Given the description of an element on the screen output the (x, y) to click on. 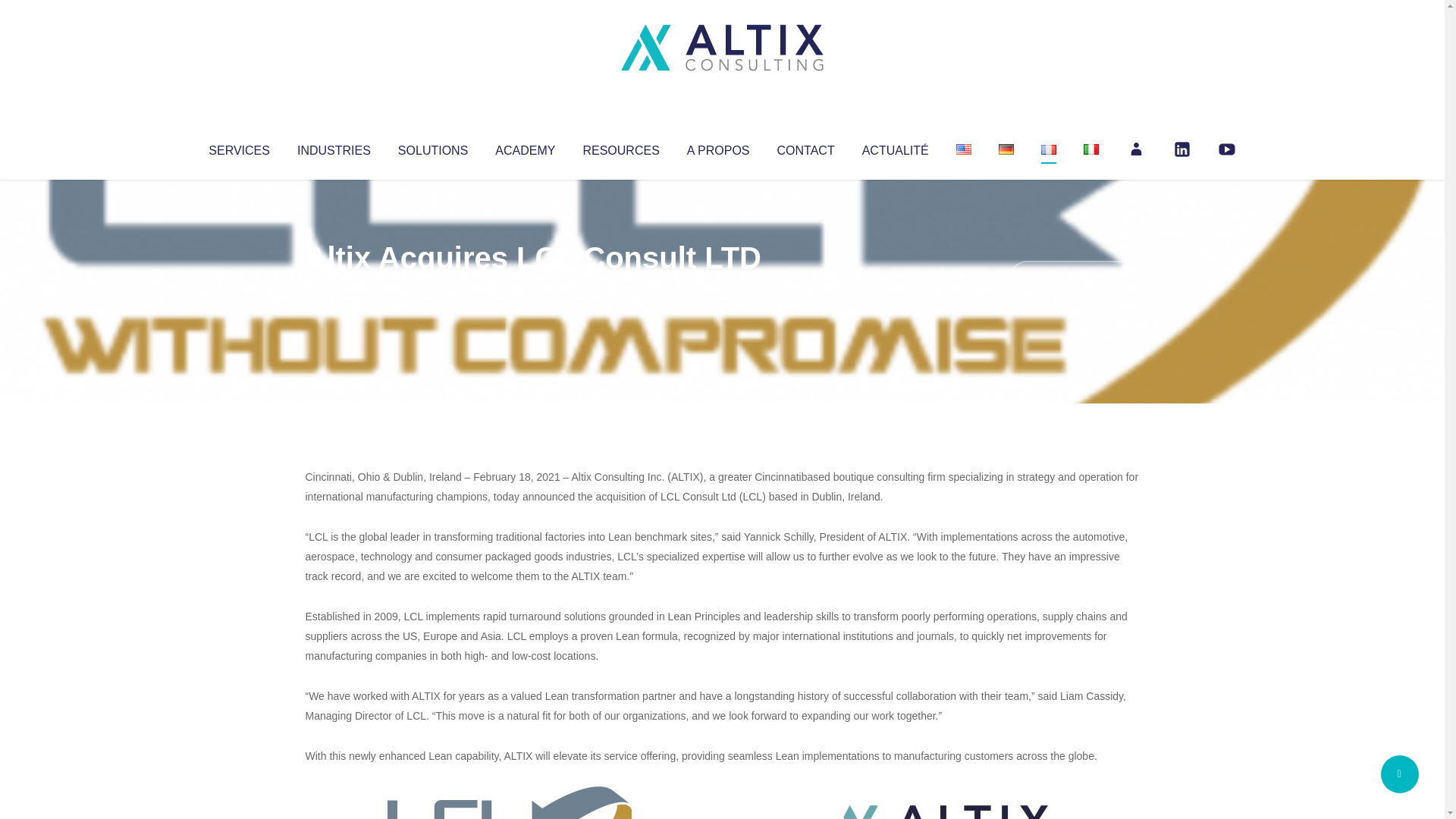
Articles par Altix (333, 287)
RESOURCES (620, 146)
SOLUTIONS (432, 146)
ACADEMY (524, 146)
INDUSTRIES (334, 146)
Uncategorized (530, 287)
A PROPOS (718, 146)
No Comments (1073, 278)
SERVICES (238, 146)
Altix (333, 287)
